Given the description of an element on the screen output the (x, y) to click on. 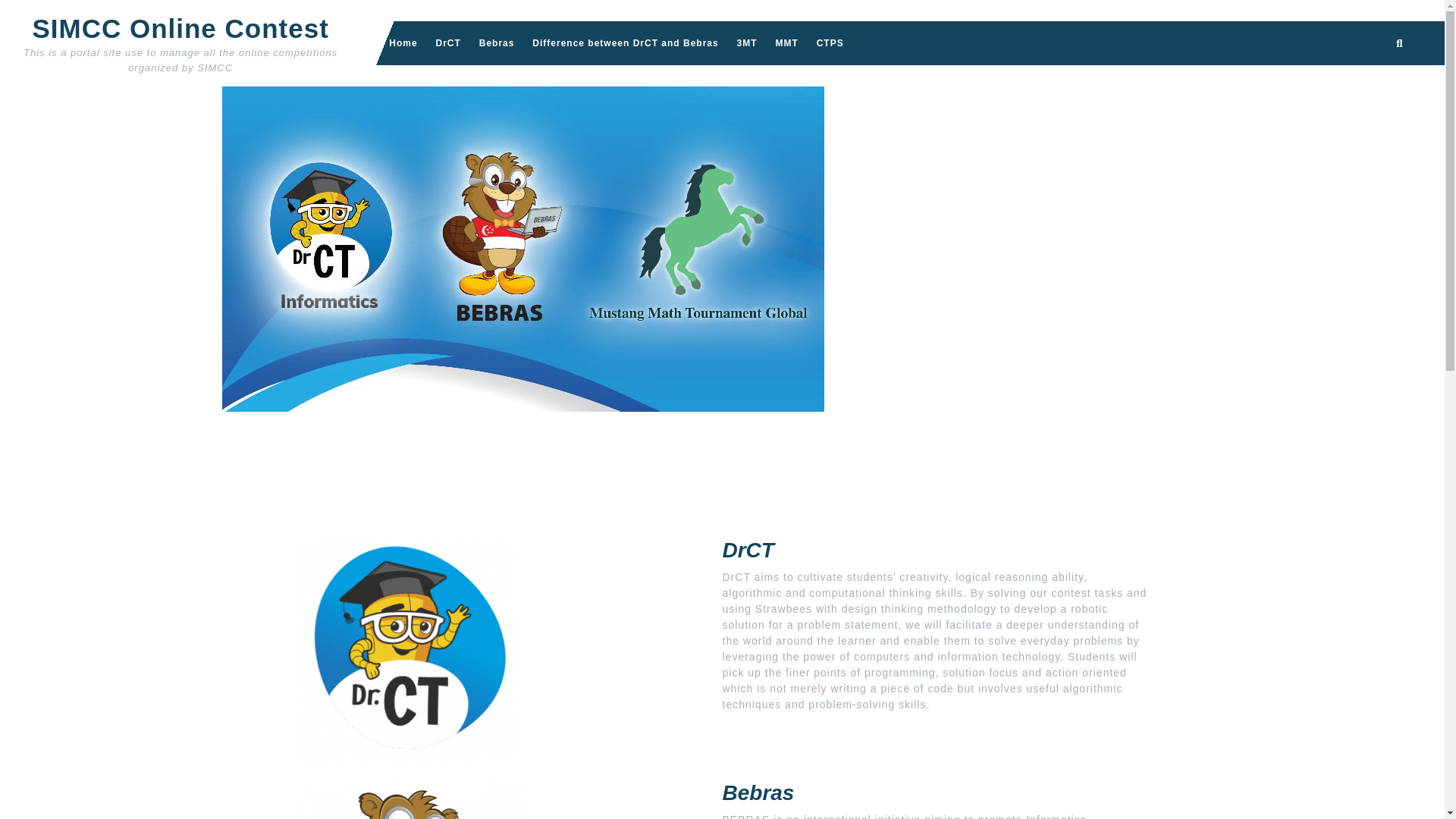
SIMCC Online Contest (180, 28)
DrCT (447, 43)
Home (403, 43)
Bebras (496, 43)
3MT (747, 43)
Difference between DrCT and Bebras (624, 43)
